Given the description of an element on the screen output the (x, y) to click on. 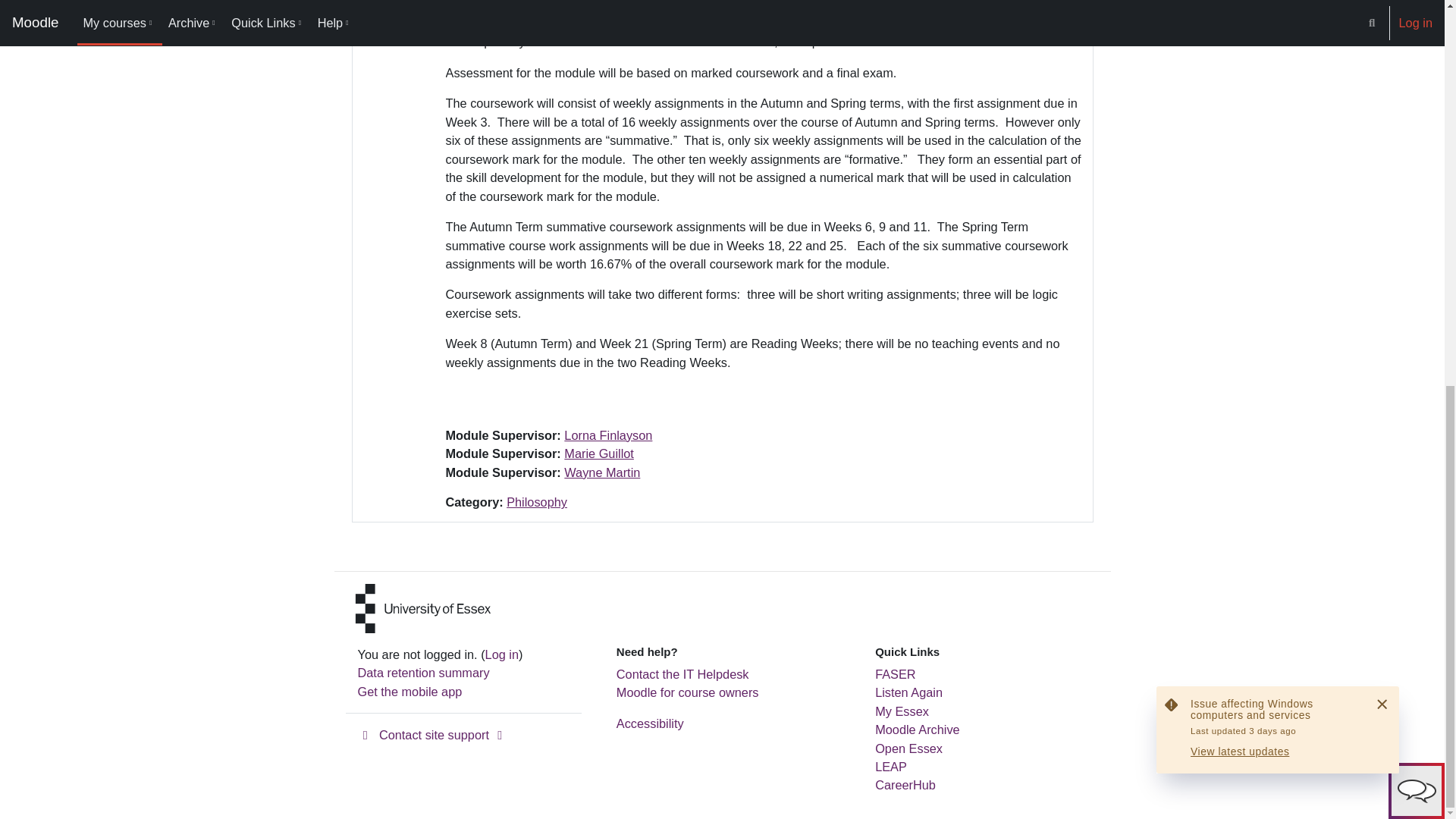
University of Essex IT Status (1277, 23)
Online coursework submission (895, 673)
